Given the description of an element on the screen output the (x, y) to click on. 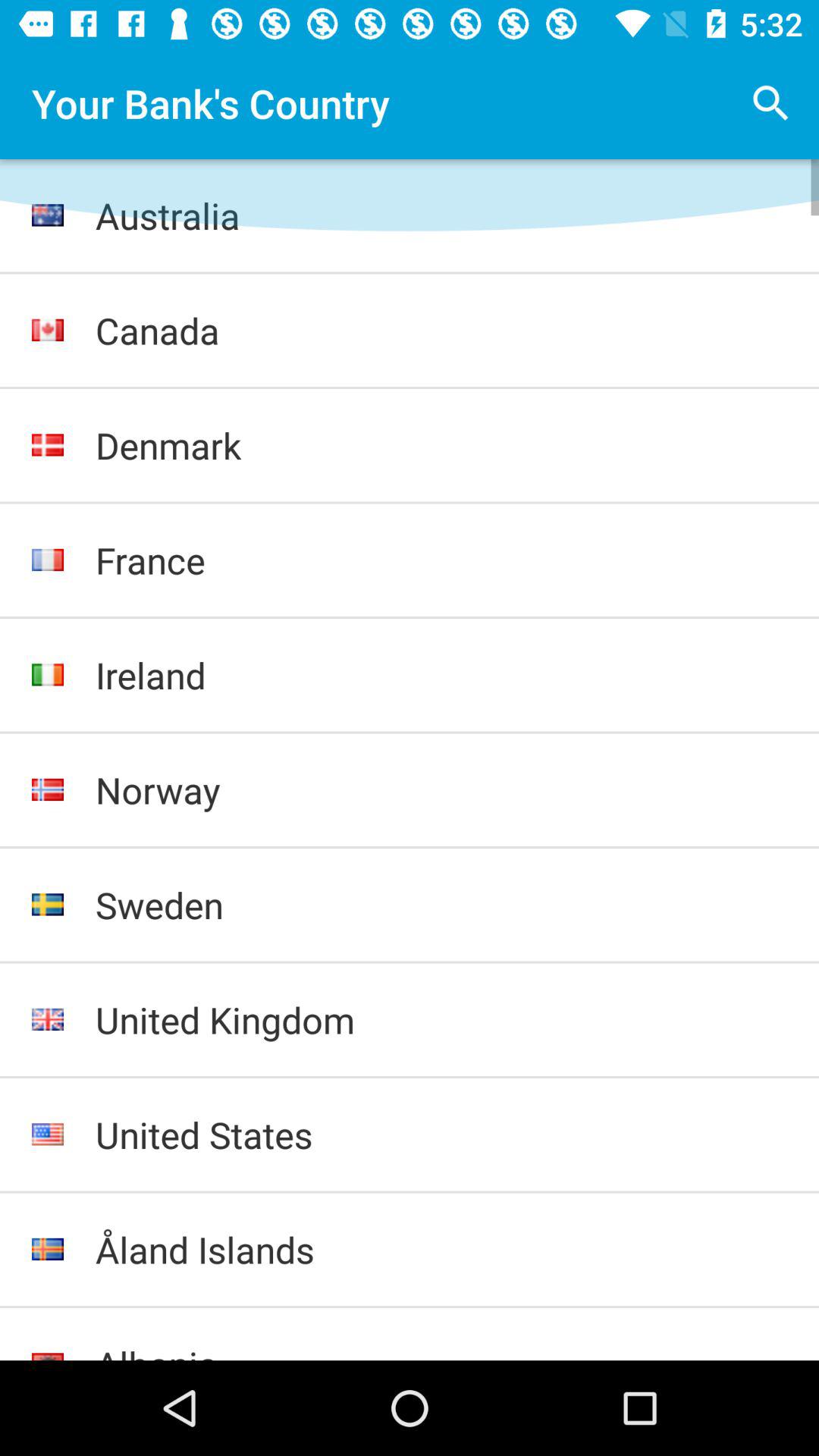
swipe to the france item (441, 559)
